Given the description of an element on the screen output the (x, y) to click on. 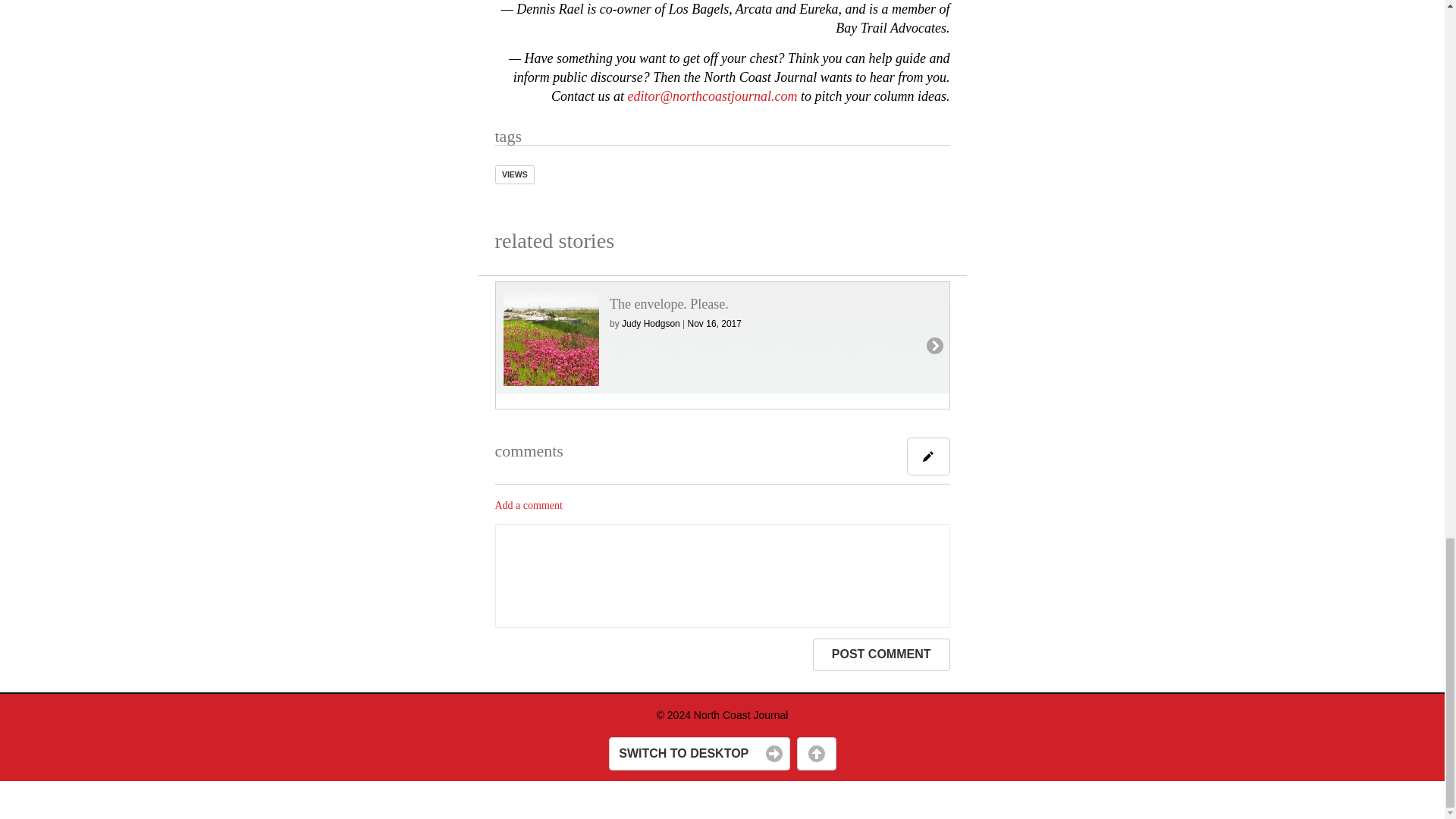
SWITCH TO DESKTOP (698, 753)
Post Comment (881, 654)
Add a comment (528, 505)
ADD A COMMENT (928, 456)
VIEWS (514, 174)
BACK TO TOP (815, 753)
Post Comment (881, 654)
